Given the description of an element on the screen output the (x, y) to click on. 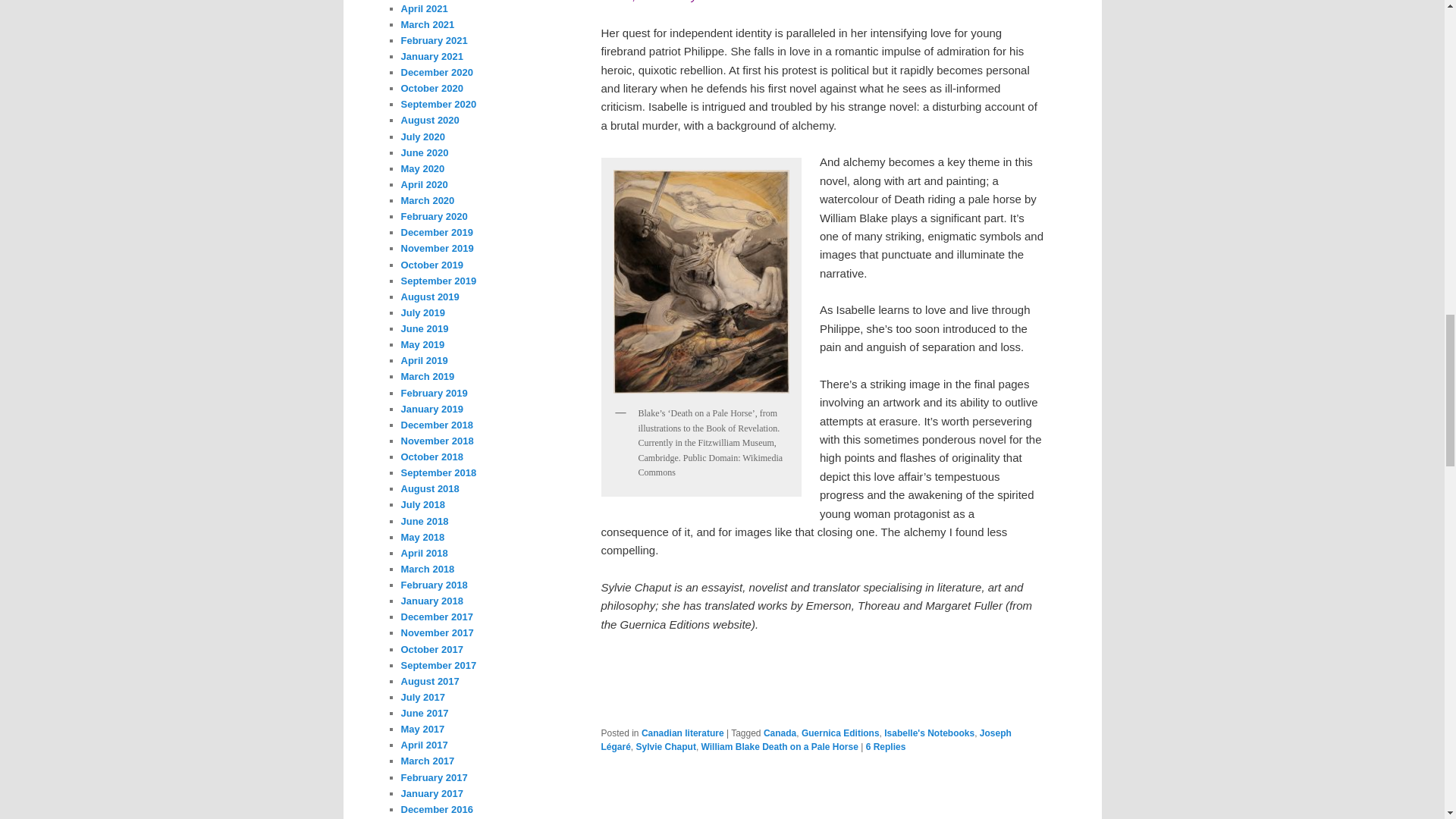
Sylvie Chaput (665, 747)
Guernica Editions (840, 733)
6 Replies (885, 747)
William Blake Death on a Pale Horse (780, 747)
Isabelle's Notebooks (928, 733)
Canadian literature (682, 733)
Canada (779, 733)
